Given the description of an element on the screen output the (x, y) to click on. 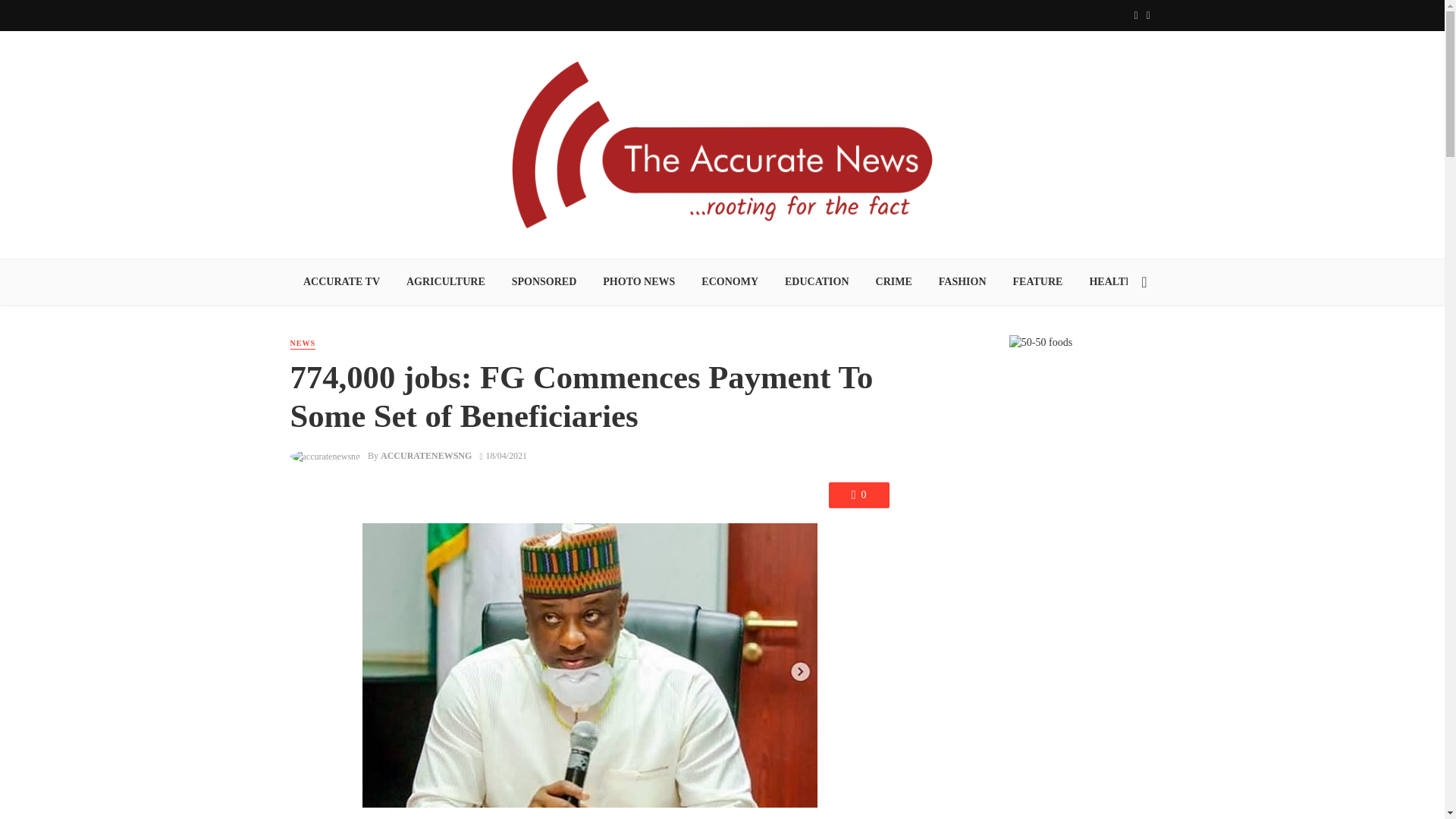
FEATURE (1036, 281)
EDUCATION (817, 281)
HEALTH (1111, 281)
AGRICULTURE (445, 281)
0 (858, 494)
Posts by accuratenewsng (425, 455)
FASHION (961, 281)
PHOTO NEWS (638, 281)
ACCURATENEWSNG (425, 455)
April 18, 2021 at 8:51 pm (503, 455)
SPONSORED (543, 281)
NEWS (301, 343)
CRIME (892, 281)
0 Comments (858, 494)
ECONOMY (729, 281)
